Given the description of an element on the screen output the (x, y) to click on. 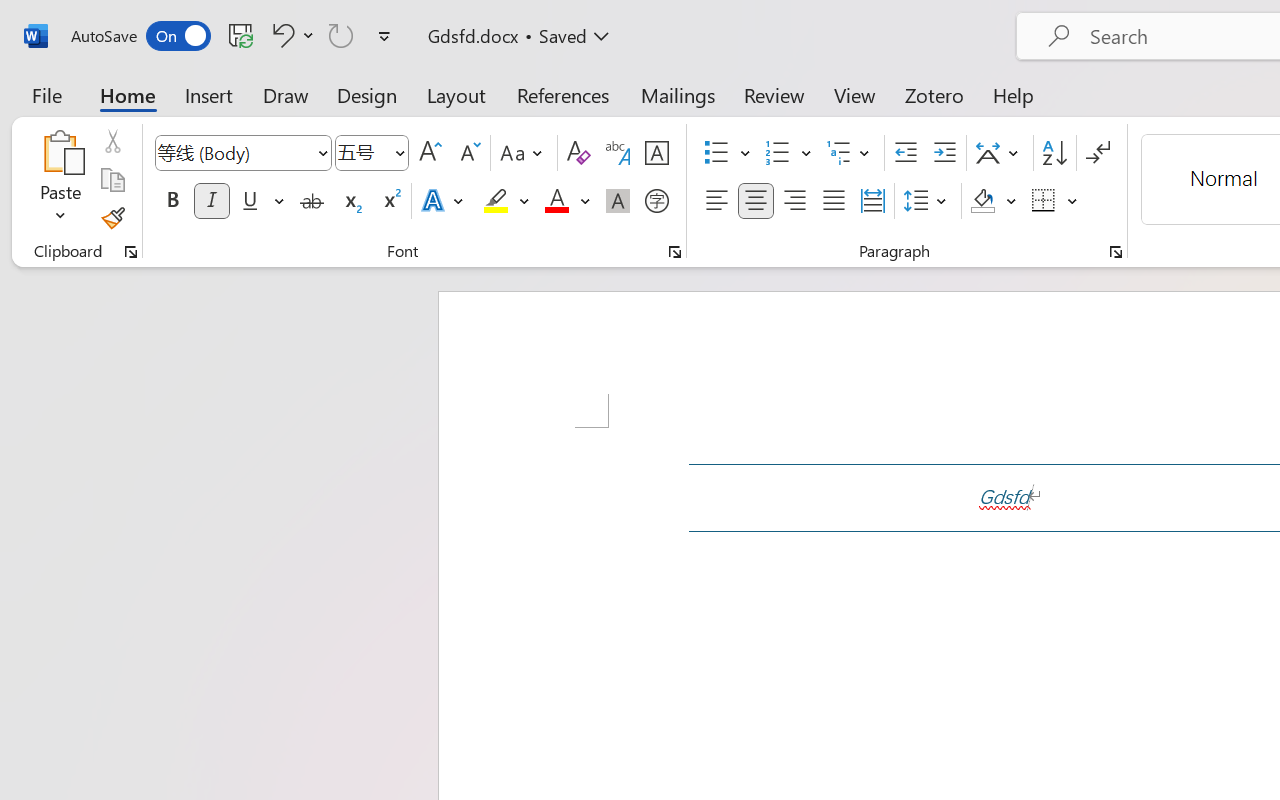
Center (756, 201)
Format Painter (112, 218)
Bold (172, 201)
Cut (112, 141)
Undo Style (290, 35)
Align Right (794, 201)
Shading (993, 201)
Increase Indent (944, 153)
Font Color Red (556, 201)
